Given the description of an element on the screen output the (x, y) to click on. 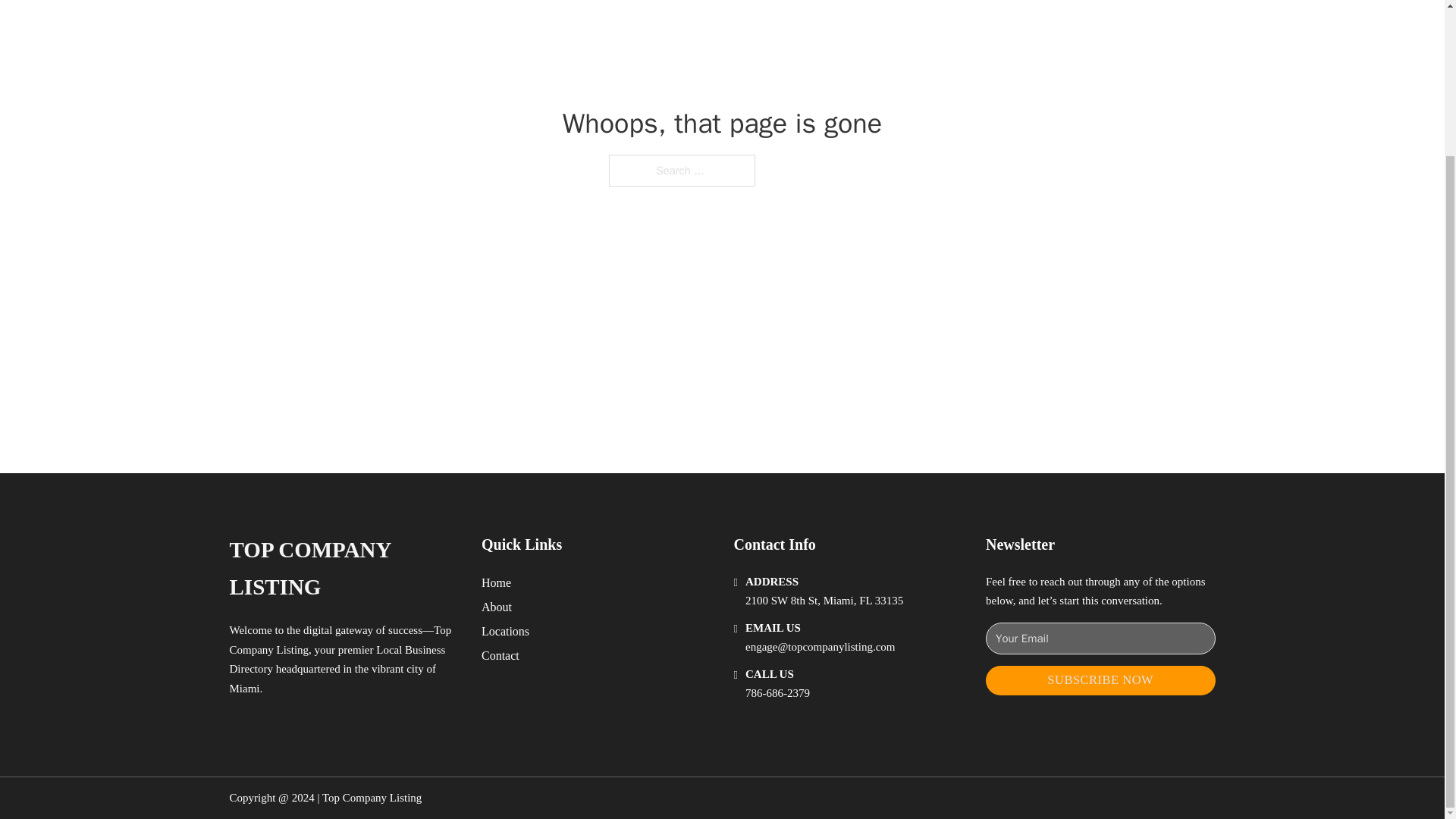
Home (496, 582)
TOP COMPANY LISTING (343, 568)
SUBSCRIBE NOW (1100, 680)
786-686-2379 (777, 693)
Contact (500, 655)
About (496, 607)
Locations (505, 630)
